Given the description of an element on the screen output the (x, y) to click on. 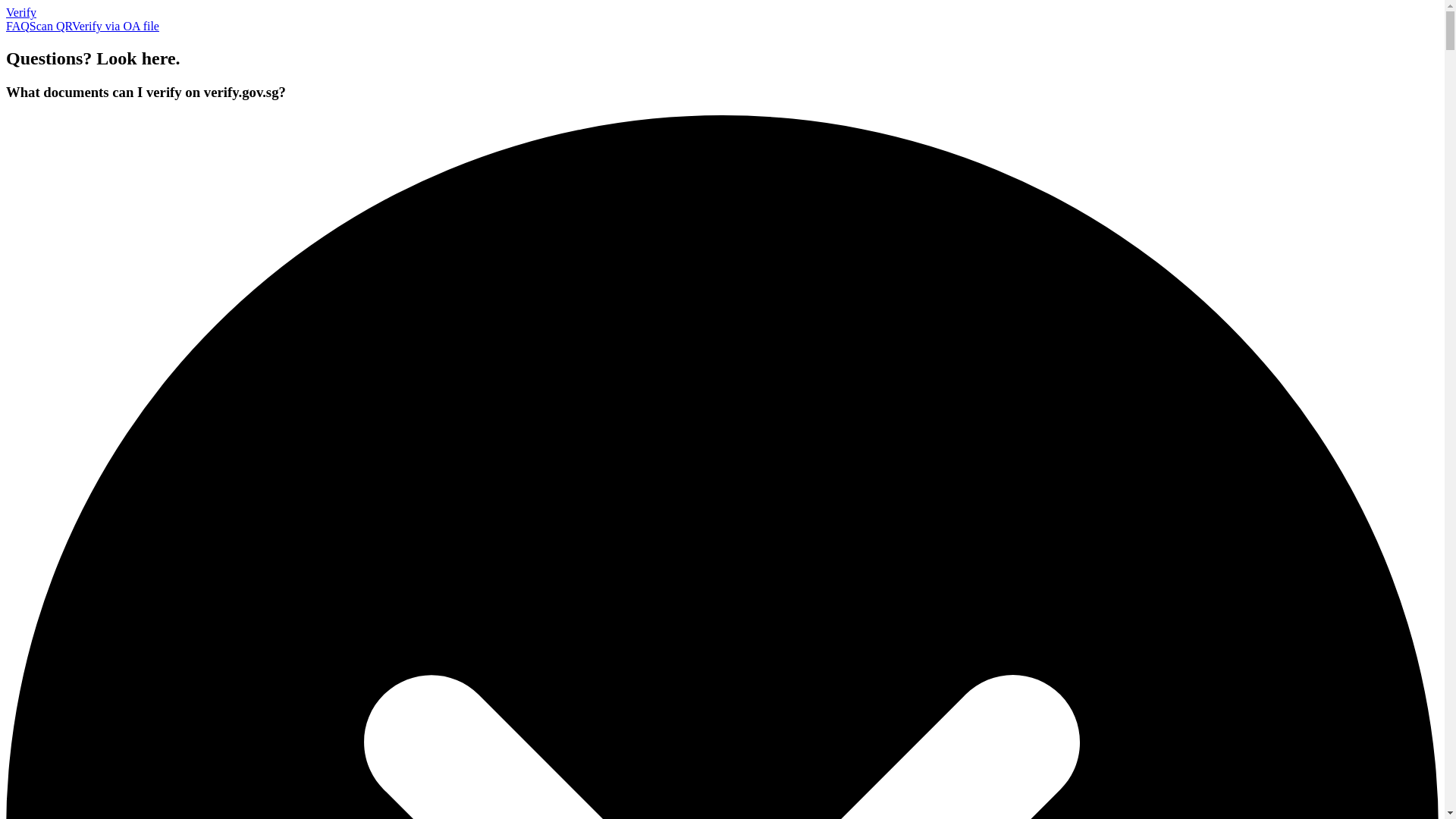
Verify via OA file (114, 25)
FAQ (17, 25)
Verify (20, 11)
Scan QR (50, 25)
